Given the description of an element on the screen output the (x, y) to click on. 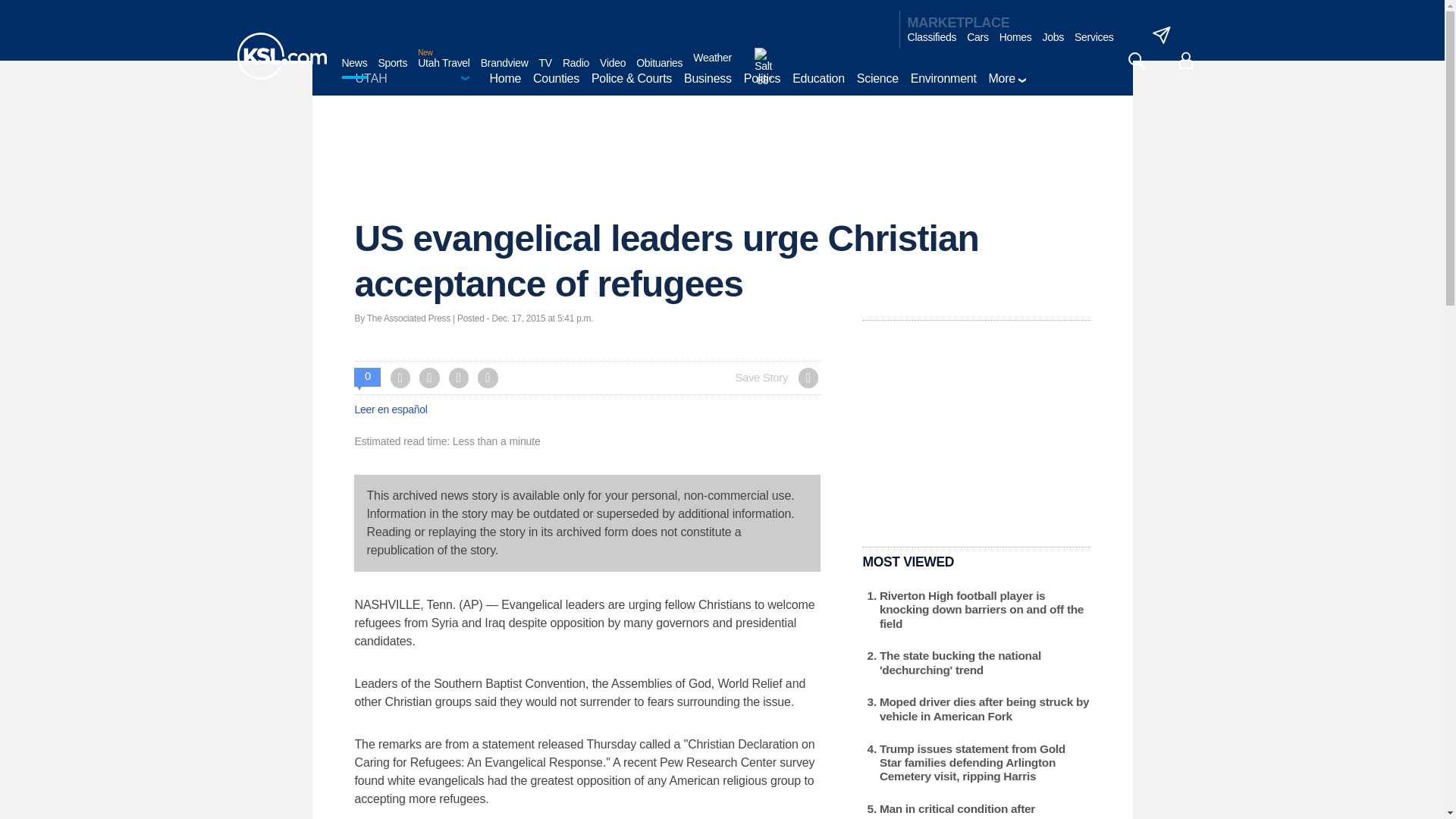
search (1135, 60)
account - logged out (1185, 60)
KSL homepage (280, 55)
